Given the description of an element on the screen output the (x, y) to click on. 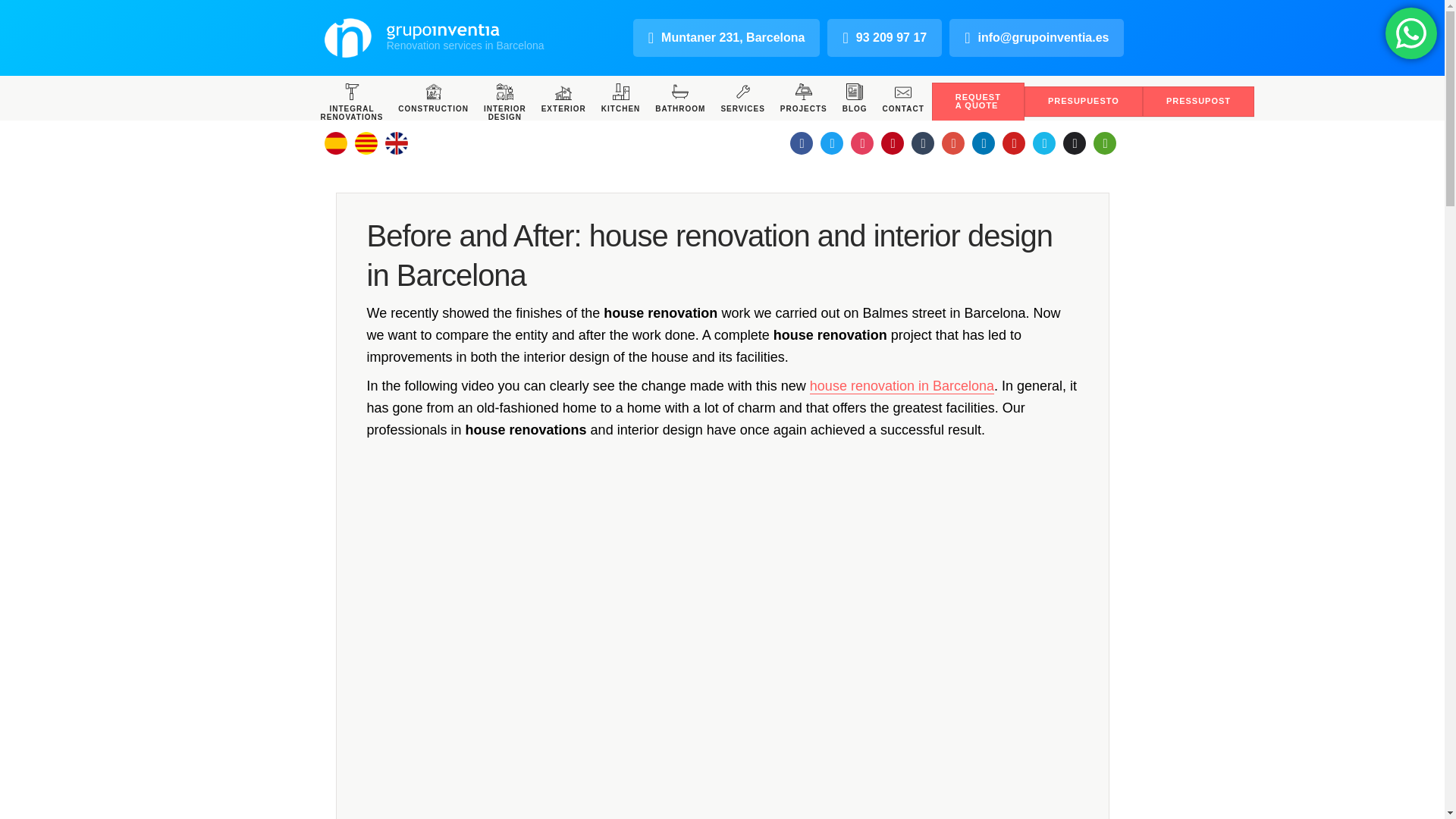
CONSTRUCTION (433, 97)
KITCHEN (620, 97)
SERVICES (742, 97)
93 209 97 17 (884, 37)
INTERIOR DESIGN (505, 101)
PROJECTS (803, 97)
BLOG (854, 97)
house renovation in Barcelona (901, 385)
PRESUPUESTO (1083, 101)
Muntaner 231, Barcelona (727, 37)
